Given the description of an element on the screen output the (x, y) to click on. 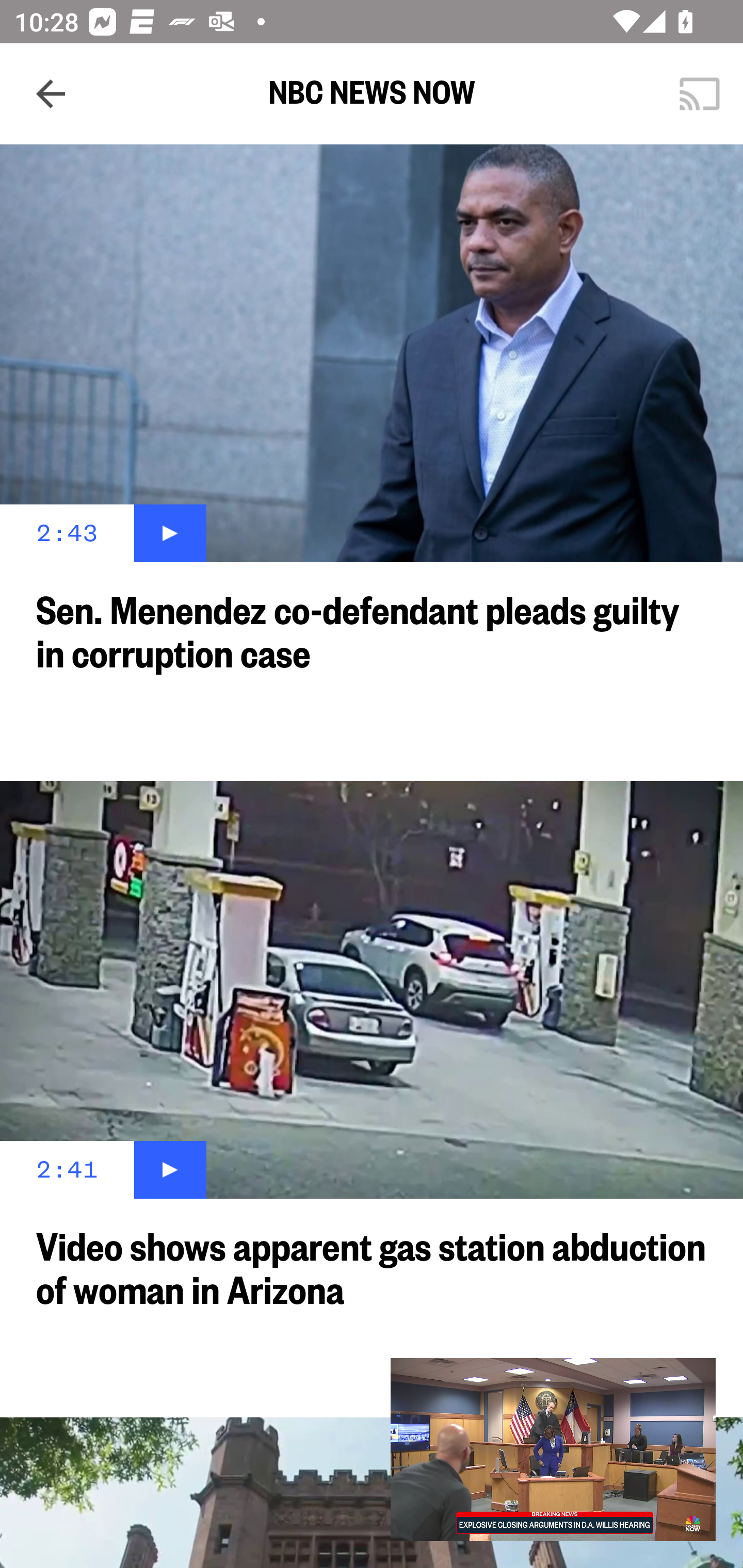
Navigate up (50, 93)
Cast. Disconnected (699, 93)
